Given the description of an element on the screen output the (x, y) to click on. 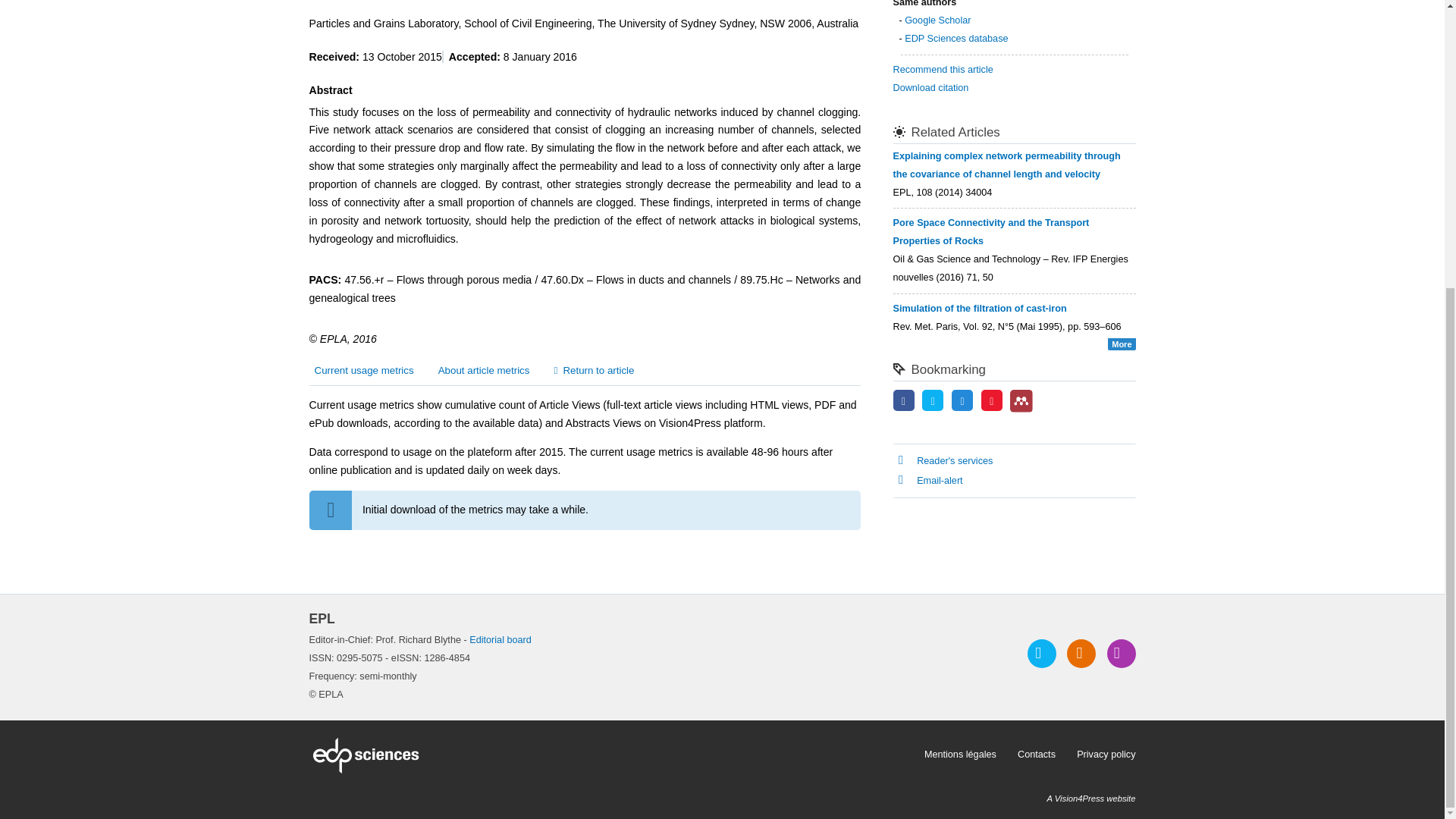
Add this article to your Mendeley library (1021, 409)
Share on Sina Weibo (992, 401)
Mendeley (1021, 400)
Register to the journal email alert (1120, 653)
Share on LinkedIn (962, 401)
Access our RSS feeds (1081, 653)
EDP Sciences website (611, 754)
Share on Facebook (903, 401)
Follow us on Twitter (1042, 653)
Share on Twitter (932, 401)
